Given the description of an element on the screen output the (x, y) to click on. 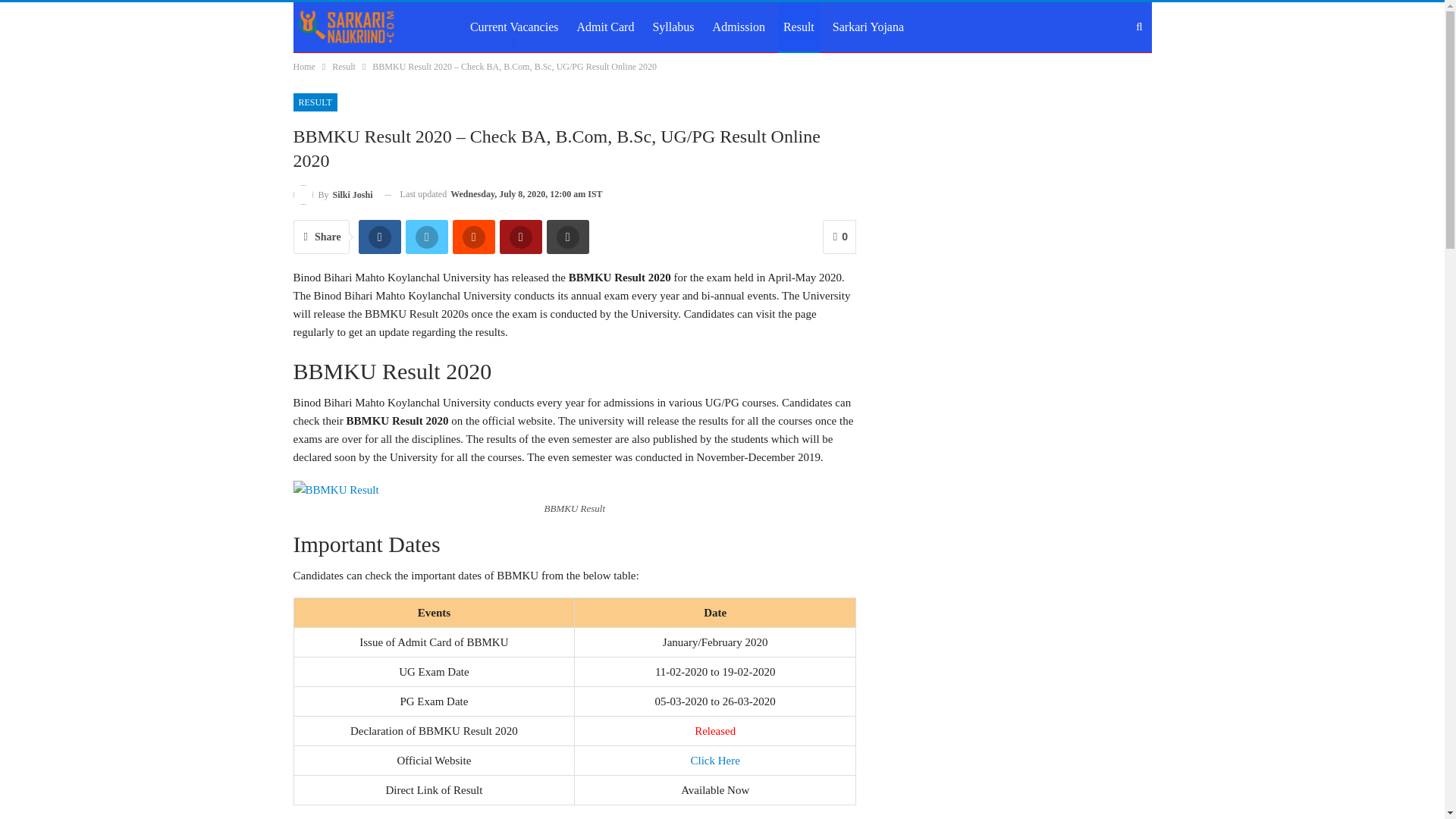
Home (303, 66)
0 (839, 236)
Current Vacancies (514, 27)
Syllabus (672, 27)
Result (343, 66)
Admission (738, 27)
RESULT (314, 102)
Click Here (714, 760)
Browse Author Articles (332, 194)
By Silki Joshi (332, 194)
